Given the description of an element on the screen output the (x, y) to click on. 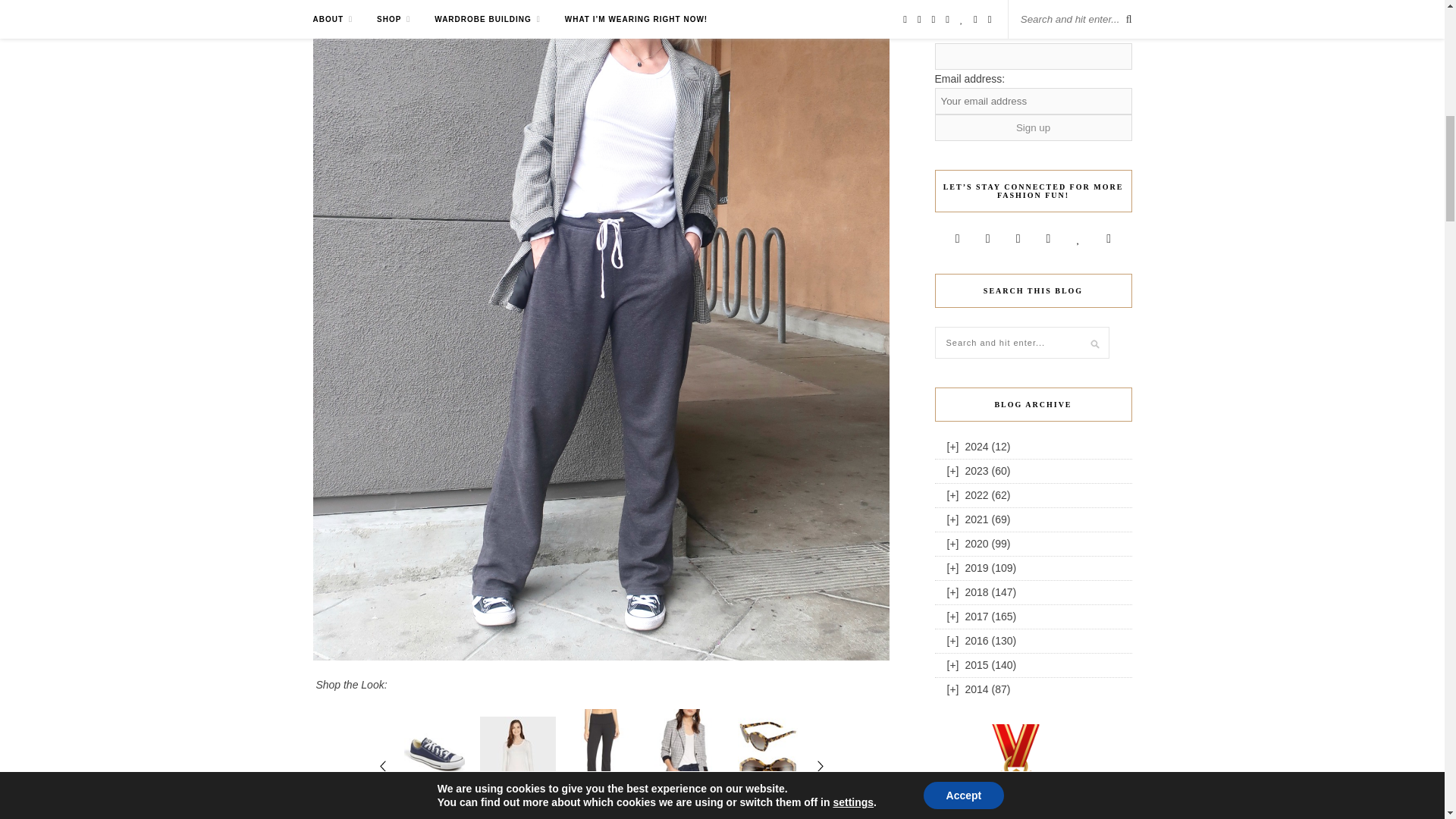
Sign up (1032, 127)
